Given the description of an element on the screen output the (x, y) to click on. 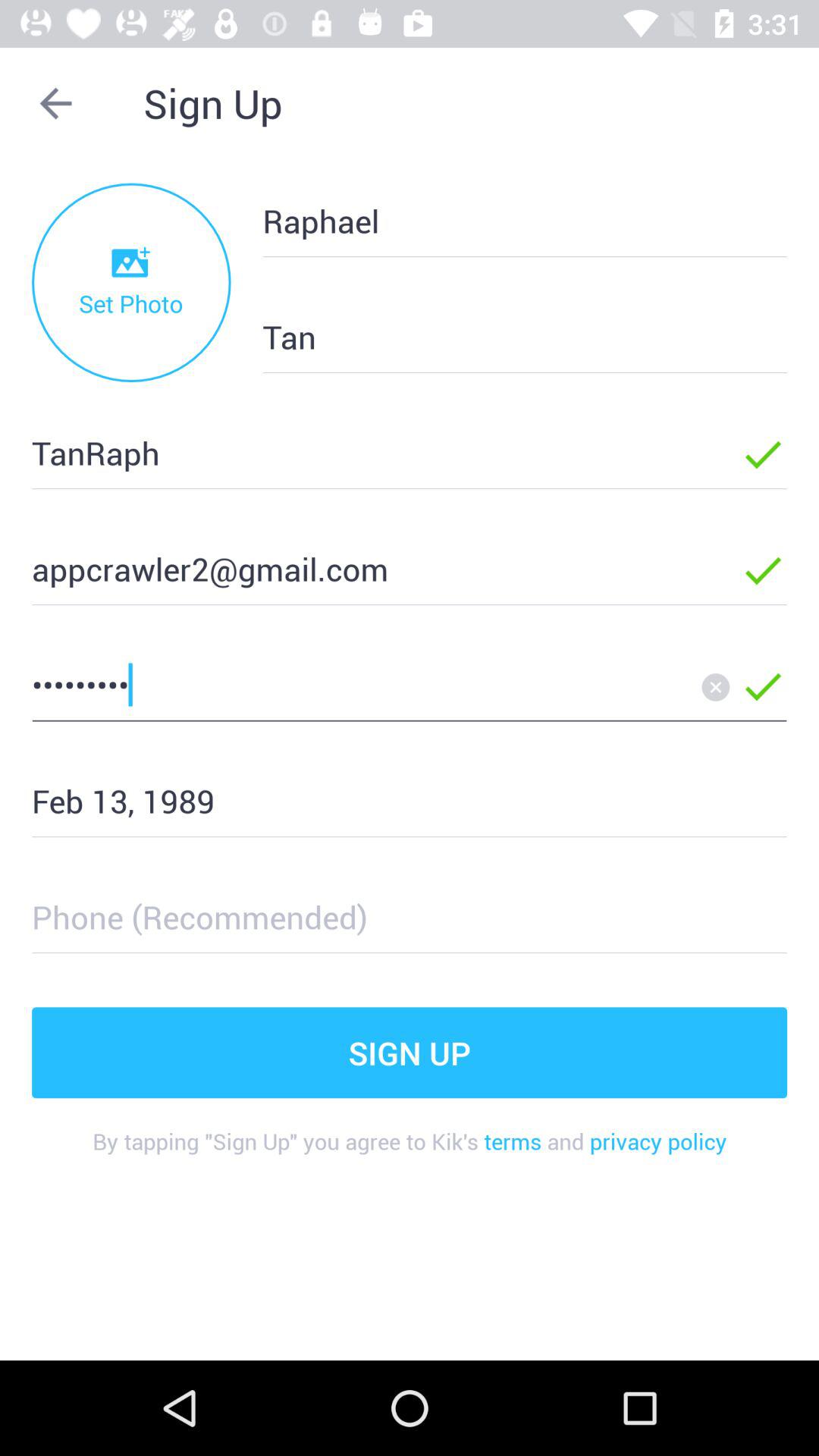
click the tanraph item (361, 452)
